Given the description of an element on the screen output the (x, y) to click on. 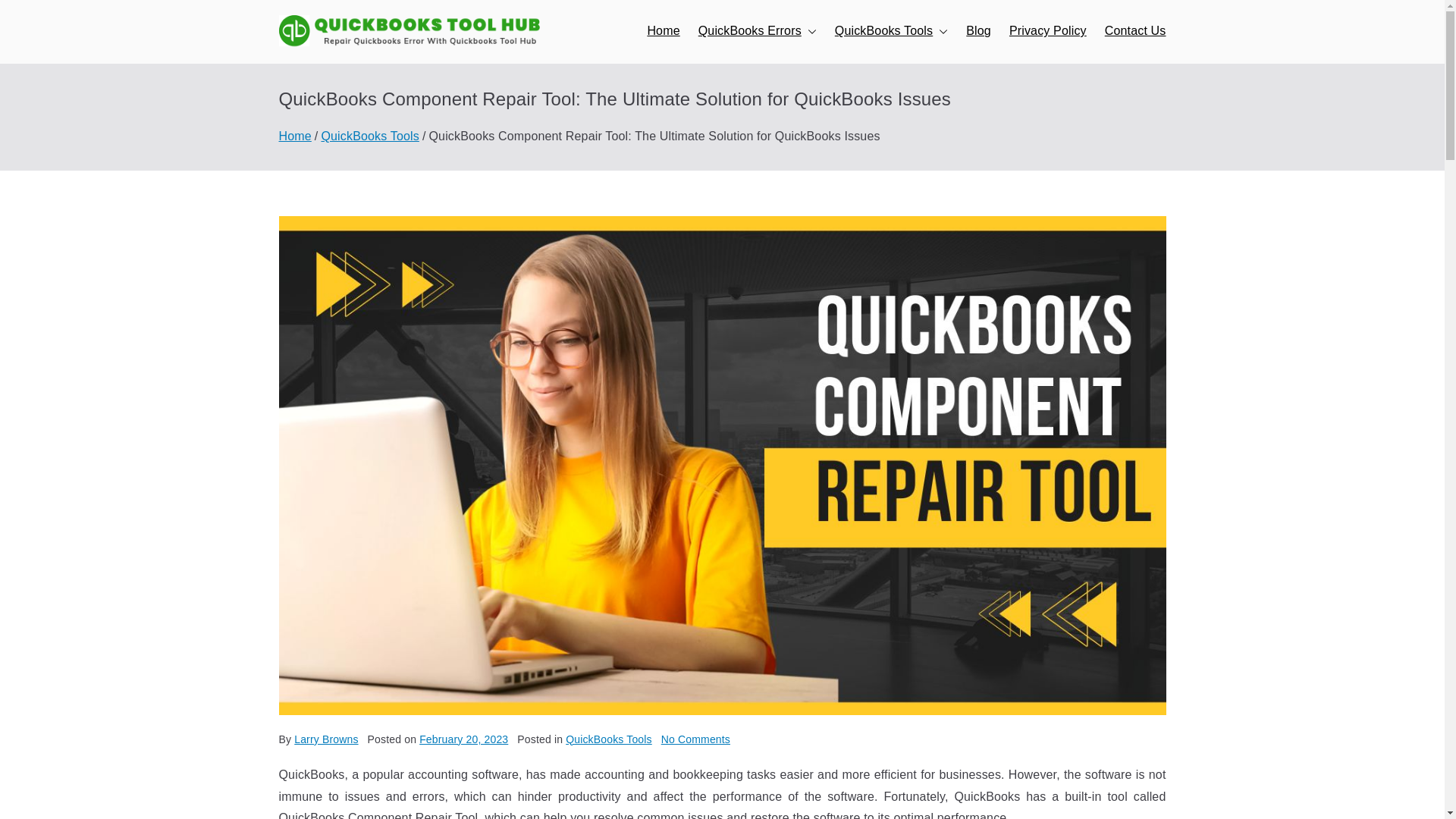
QuickBooks Tools (890, 31)
Blog (978, 31)
Home (662, 31)
QuickBooks Errors (757, 31)
